Given the description of an element on the screen output the (x, y) to click on. 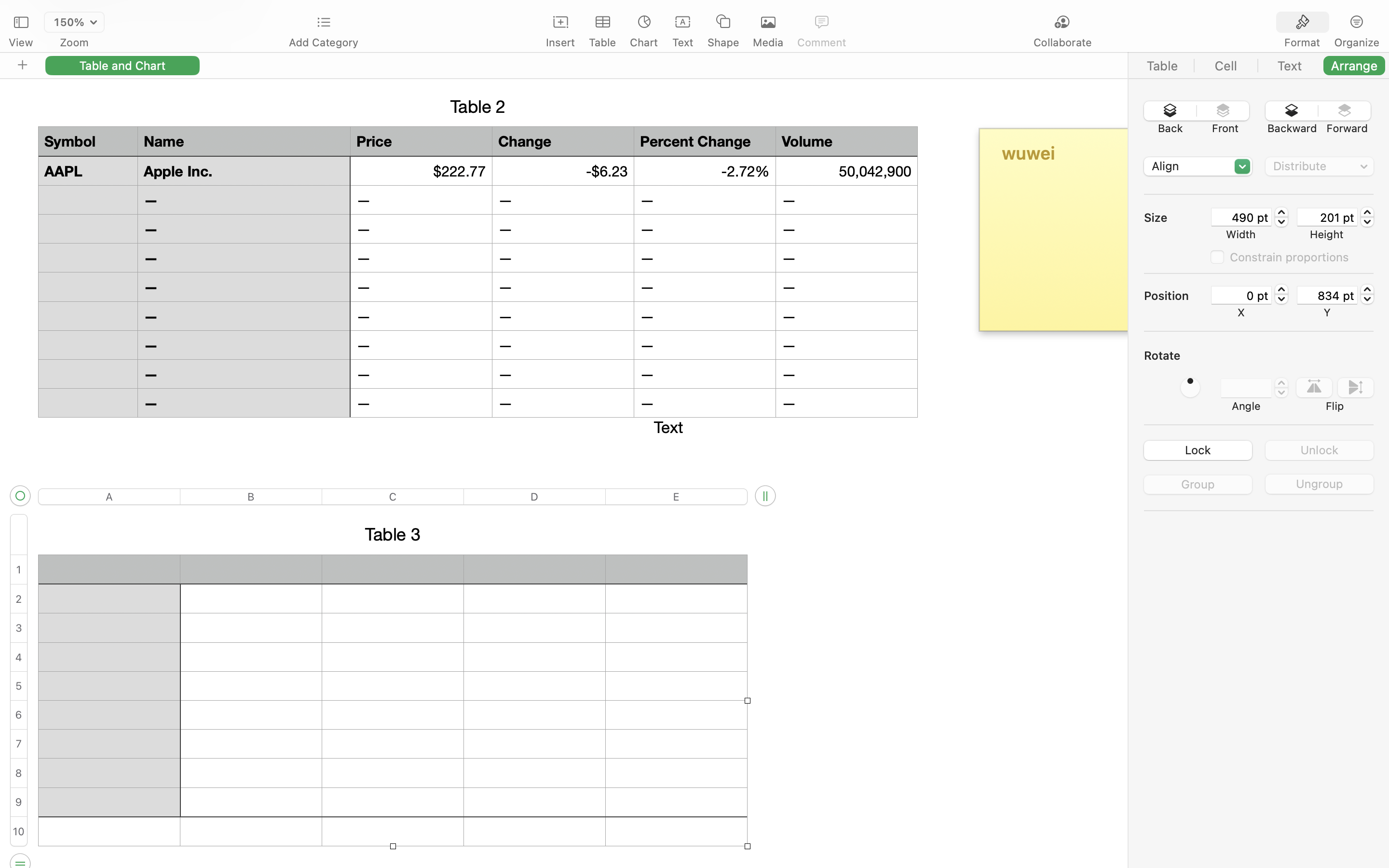
Table and Chart Element type: AXStaticText (122, 64)
<AXUIElement 0x154ee0b90> {pid=1420} Element type: AXGroup (1329, 22)
Zoom Element type: AXStaticText (73, 42)
834.2460000753404 Element type: AXIncrementor (1367, 293)
